Given the description of an element on the screen output the (x, y) to click on. 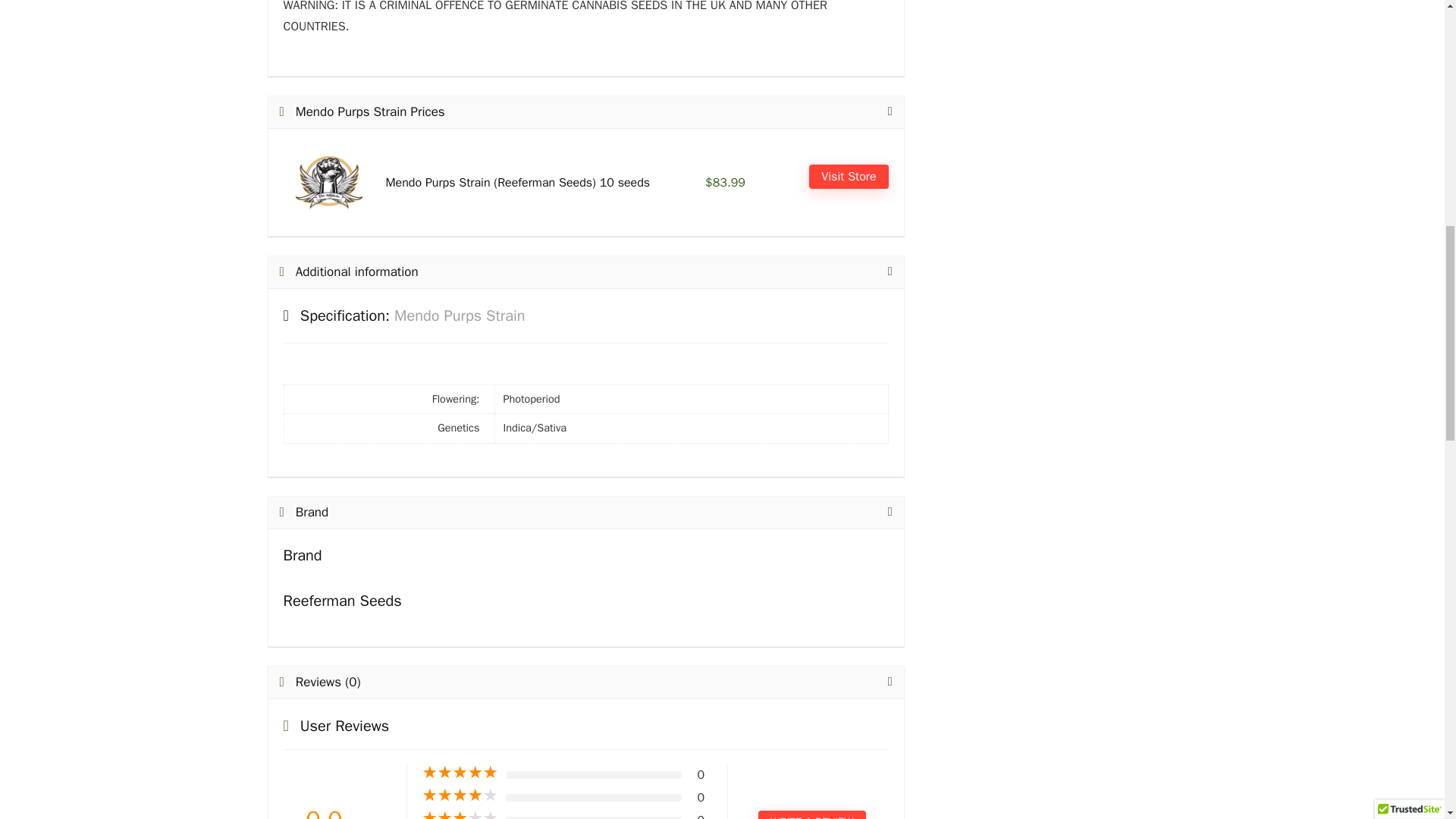
Rated 4 out of 5 (459, 795)
Rated 3 out of 5 (459, 814)
WRITE A REVIEW (811, 814)
Rated 5 out of 5 (459, 772)
